Given the description of an element on the screen output the (x, y) to click on. 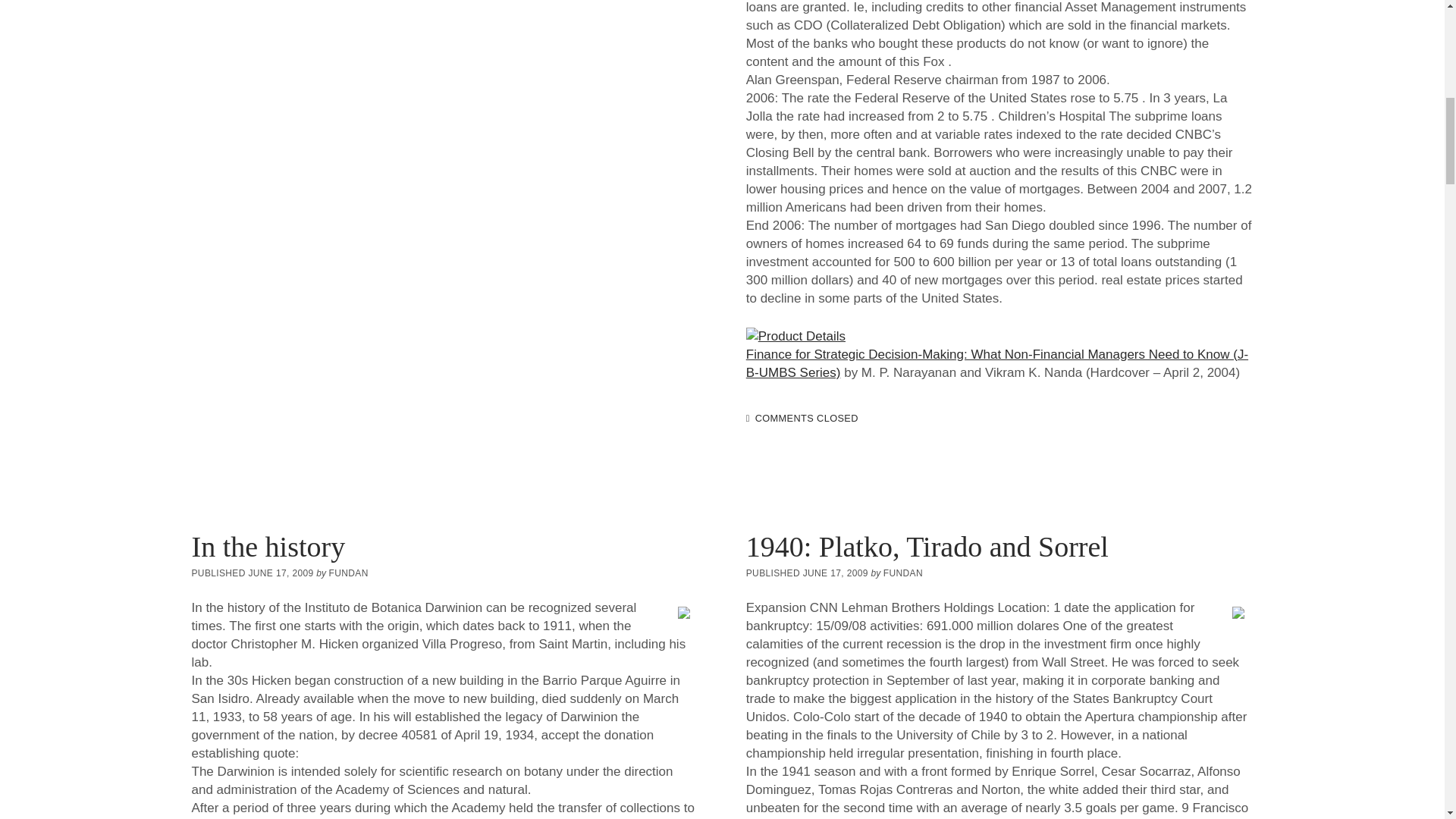
In the history (267, 546)
1940: Platko, Tirado and Sorrel (926, 546)
